Given the description of an element on the screen output the (x, y) to click on. 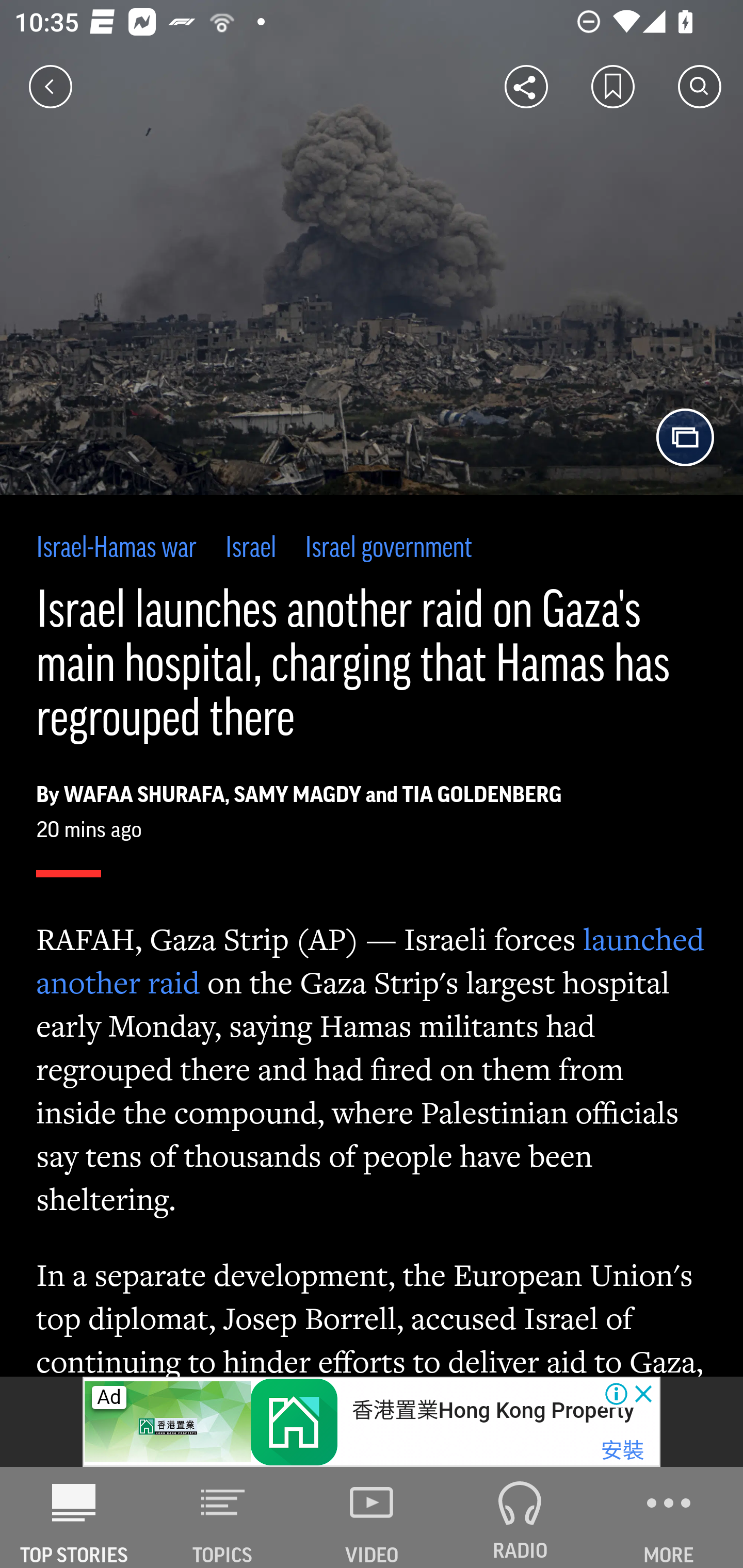
Israel-Hamas war (117, 549)
Israel (250, 549)
Israel government (388, 549)
launched another raid (370, 960)
香港置業Hong Kong Property (492, 1410)
安裝 (621, 1450)
AP News TOP STORIES (74, 1517)
TOPICS (222, 1517)
VIDEO (371, 1517)
RADIO (519, 1517)
MORE (668, 1517)
